Given the description of an element on the screen output the (x, y) to click on. 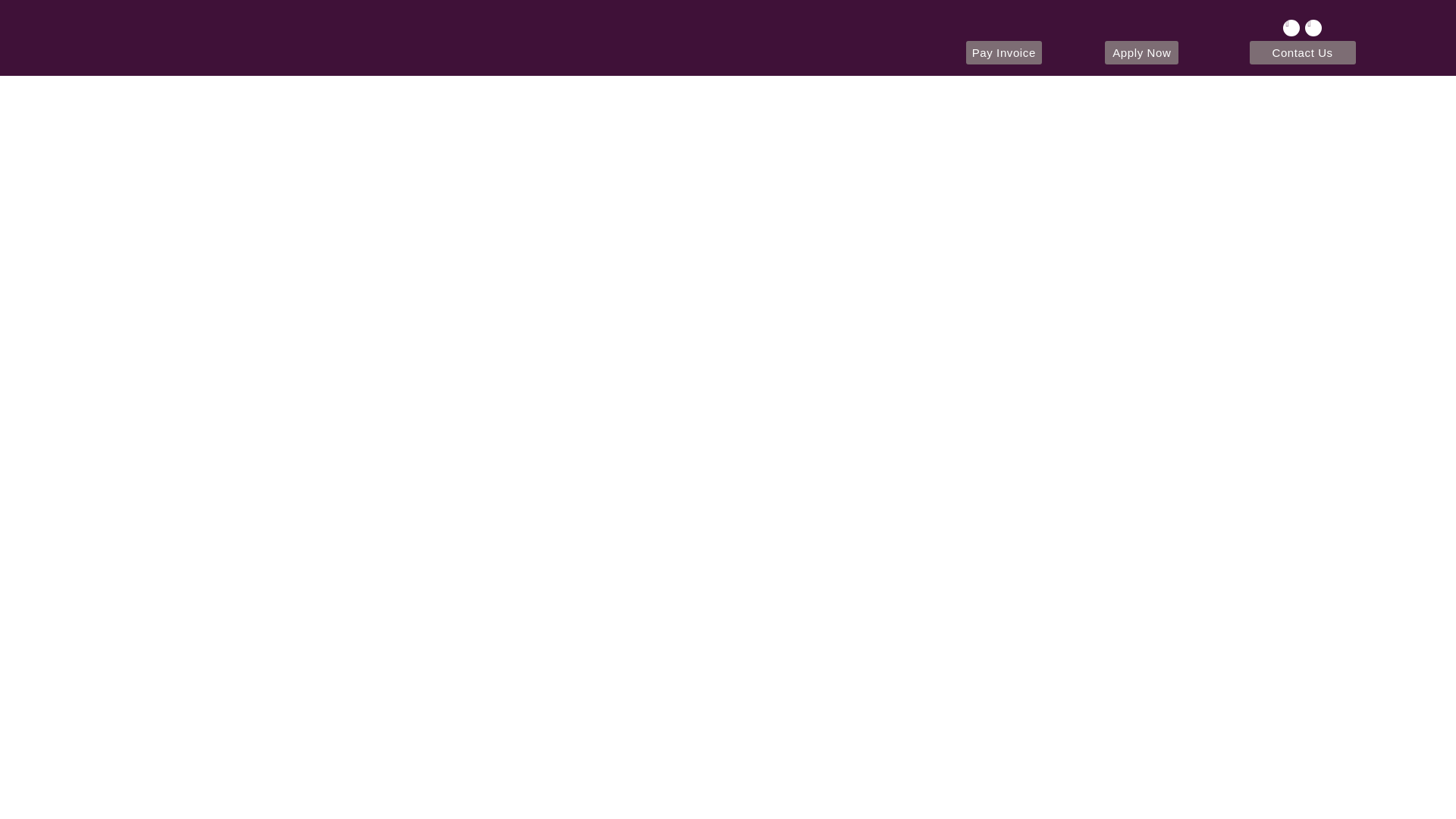
Contact Us (1302, 52)
Apply Now (1141, 52)
Pay Invoice (1004, 52)
